Given the description of an element on the screen output the (x, y) to click on. 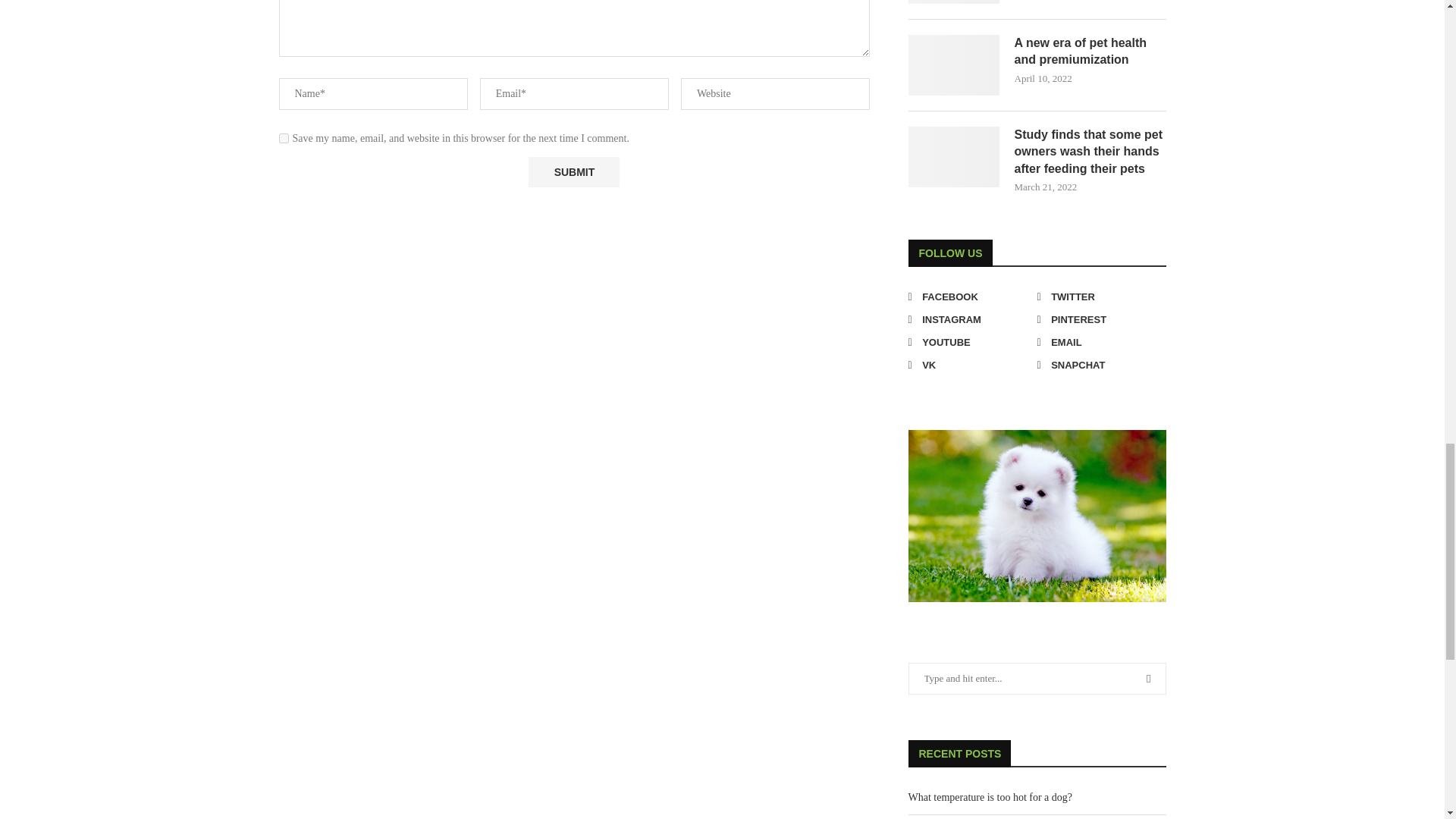
yes (283, 138)
Submit (574, 172)
